Given the description of an element on the screen output the (x, y) to click on. 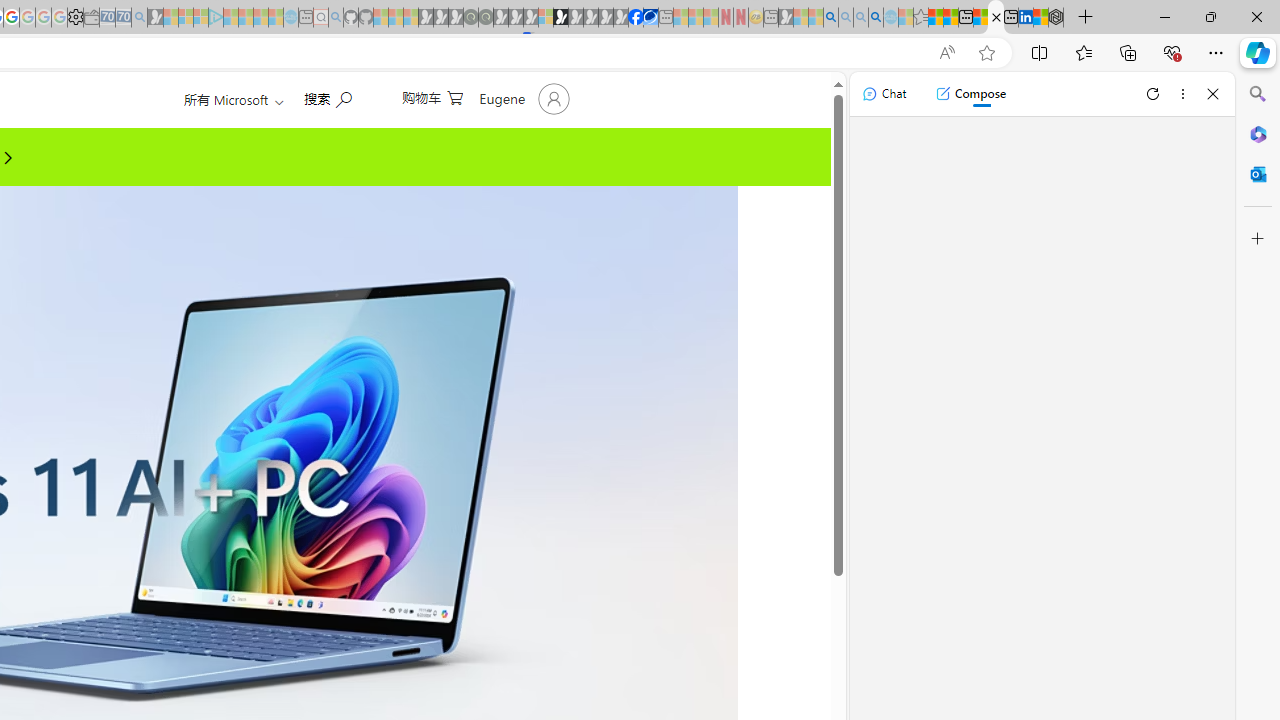
github - Search - Sleeping (336, 17)
Home | Sky Blue Bikes - Sky Blue Bikes - Sleeping (291, 17)
Future Focus Report 2024 - Sleeping (485, 17)
Close Customize pane (1258, 239)
Chat (884, 93)
Microsoft account | Privacy - Sleeping (201, 17)
